Given the description of an element on the screen output the (x, y) to click on. 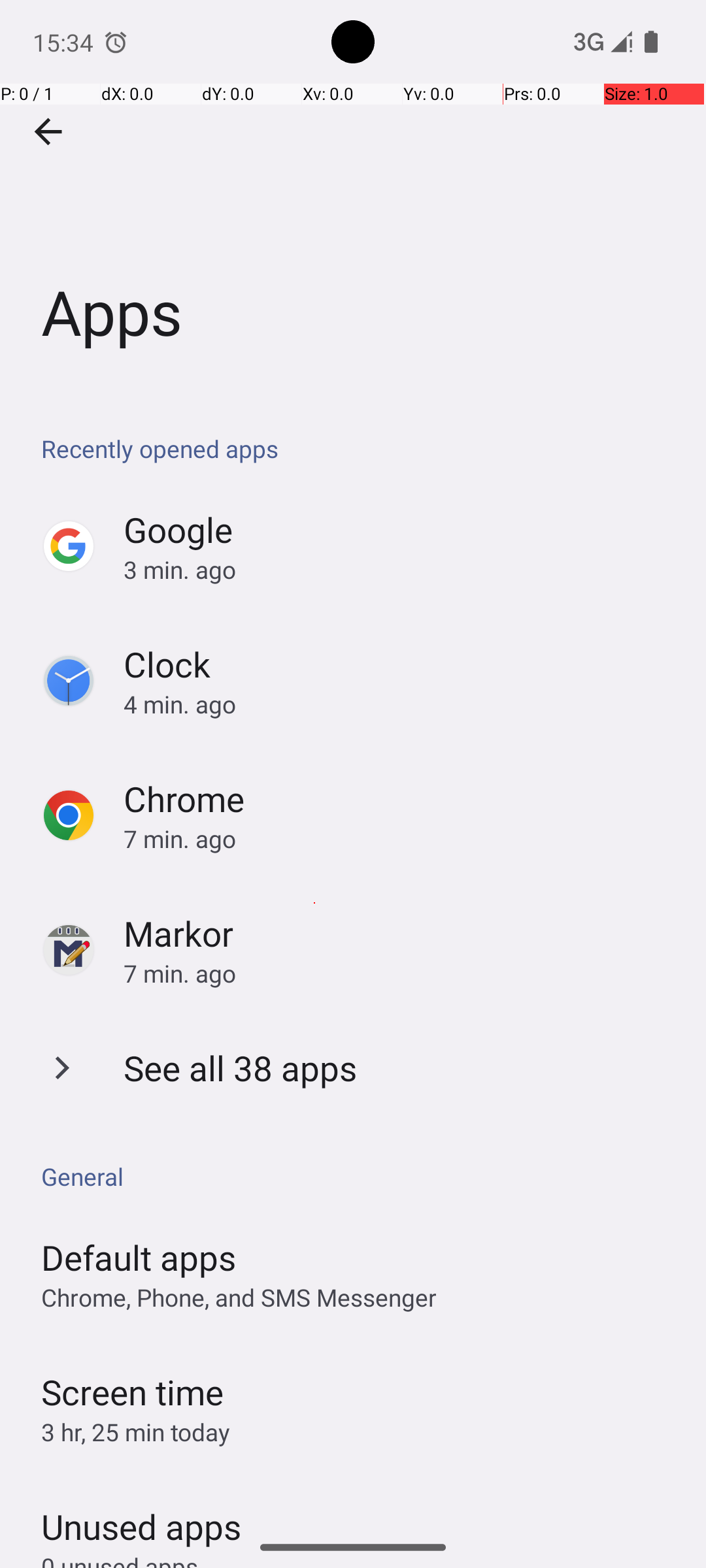
4 min. ago Element type: android.widget.TextView (400, 703)
7 min. ago Element type: android.widget.TextView (400, 838)
See all 38 apps Element type: android.widget.TextView (239, 1067)
3 hr, 25 min today Element type: android.widget.TextView (135, 1431)
